Given the description of an element on the screen output the (x, y) to click on. 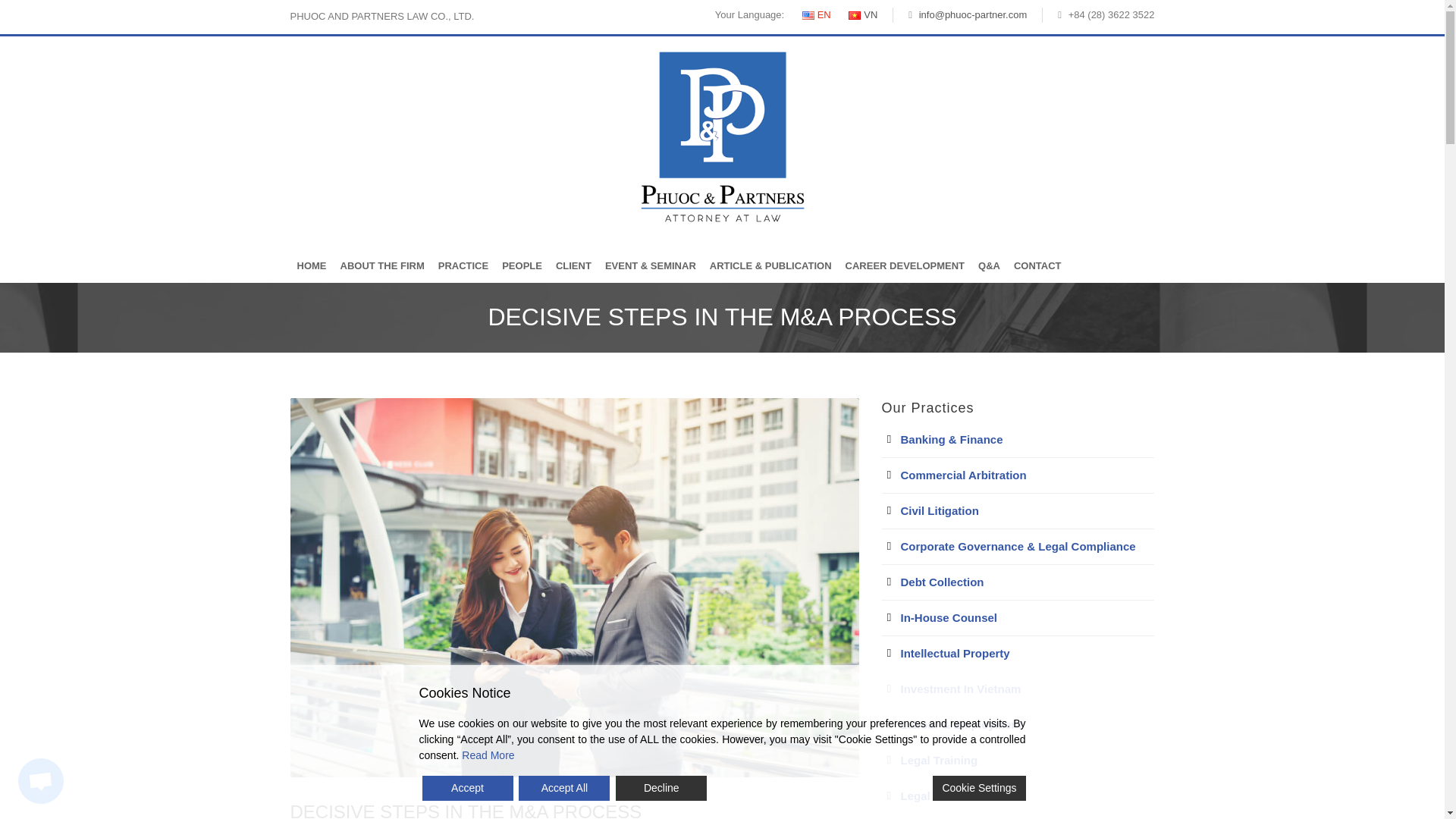
VN (862, 14)
EN (816, 14)
VN (854, 15)
PRACTICE (462, 266)
EN (807, 15)
HOME (311, 266)
ABOUT THE FIRM (381, 266)
